Given the description of an element on the screen output the (x, y) to click on. 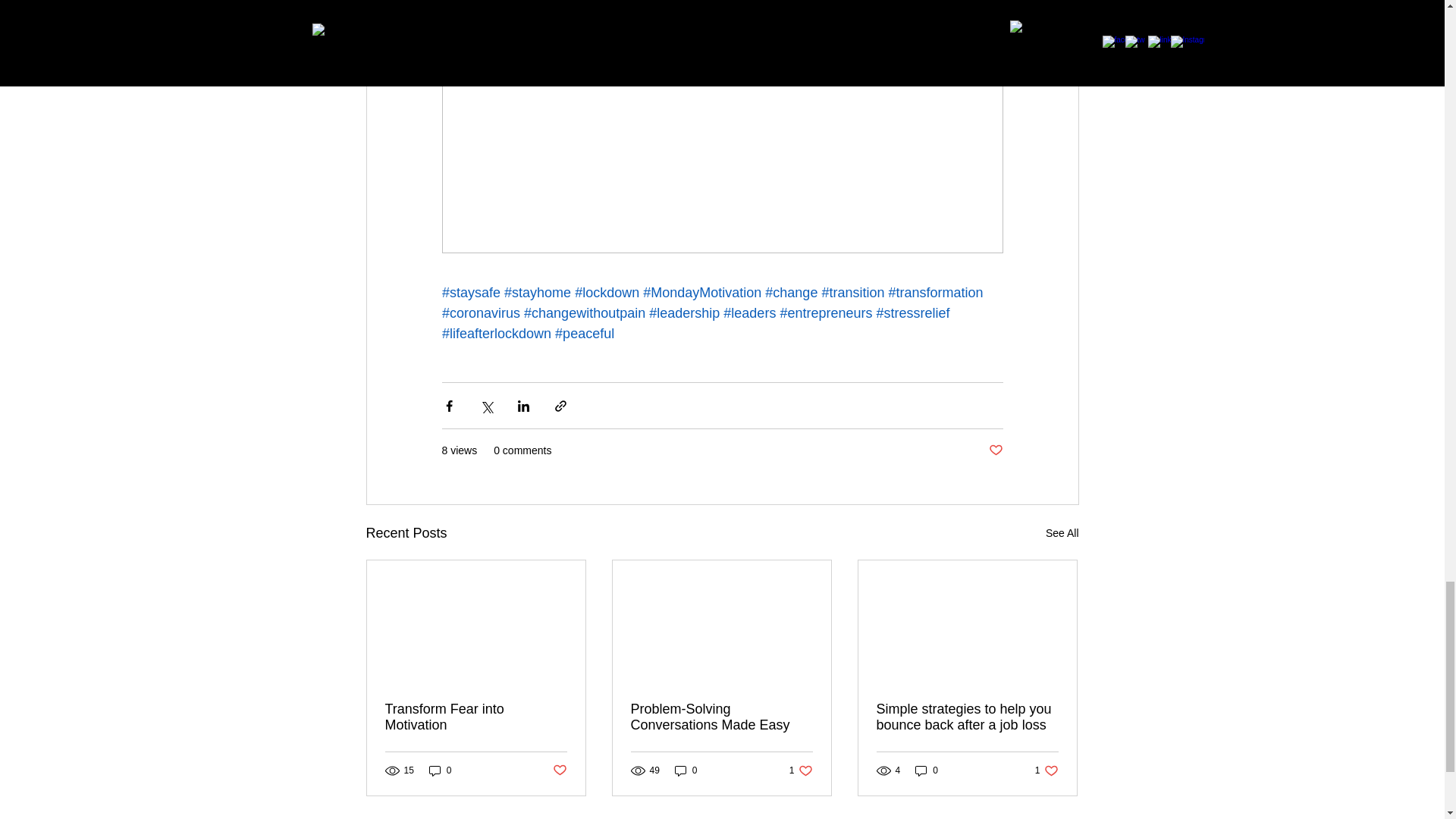
Post not marked as liked (558, 770)
0 (685, 770)
See All (1061, 533)
0 (440, 770)
0 (926, 770)
Transform Fear into Motivation (476, 717)
Problem-Solving Conversations Made Easy (721, 717)
Simple strategies to help you bounce back after a job loss (800, 770)
Post not marked as liked (967, 717)
